Given the description of an element on the screen output the (x, y) to click on. 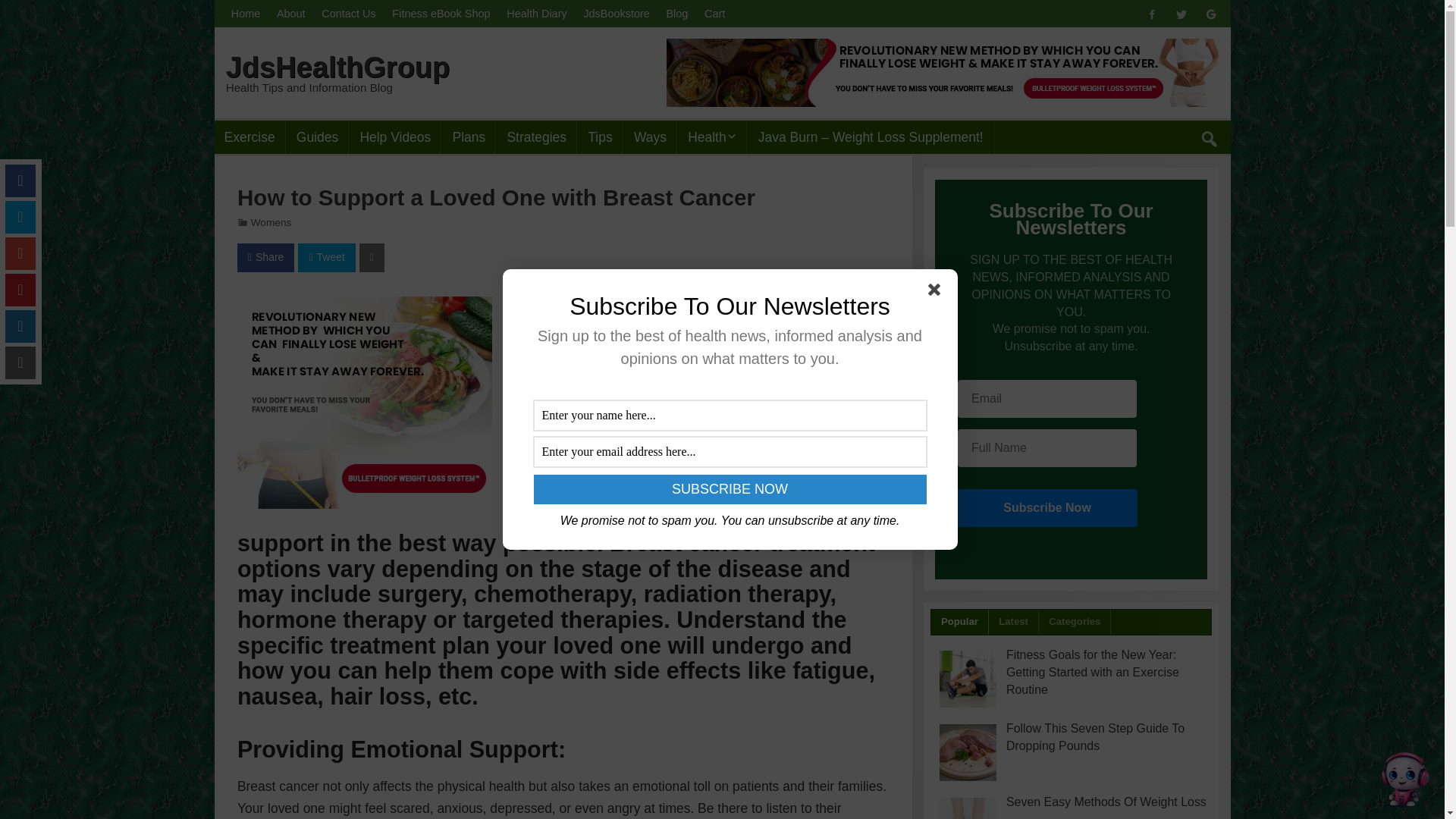
Health Diary (536, 13)
JdsBookstore (616, 13)
Exercise (248, 136)
Contact Us (348, 13)
Share On Facebook (265, 257)
Bulletproof Weight Loss System (364, 402)
Help Videos (395, 136)
Fitness eBook Shop (441, 13)
Tips (600, 136)
Plans (468, 136)
Bulletproof Weight Loss System (364, 306)
Blog (677, 13)
Tweet on Twitter (326, 257)
Subscribe Now (730, 489)
Mens (764, 172)
